Given the description of an element on the screen output the (x, y) to click on. 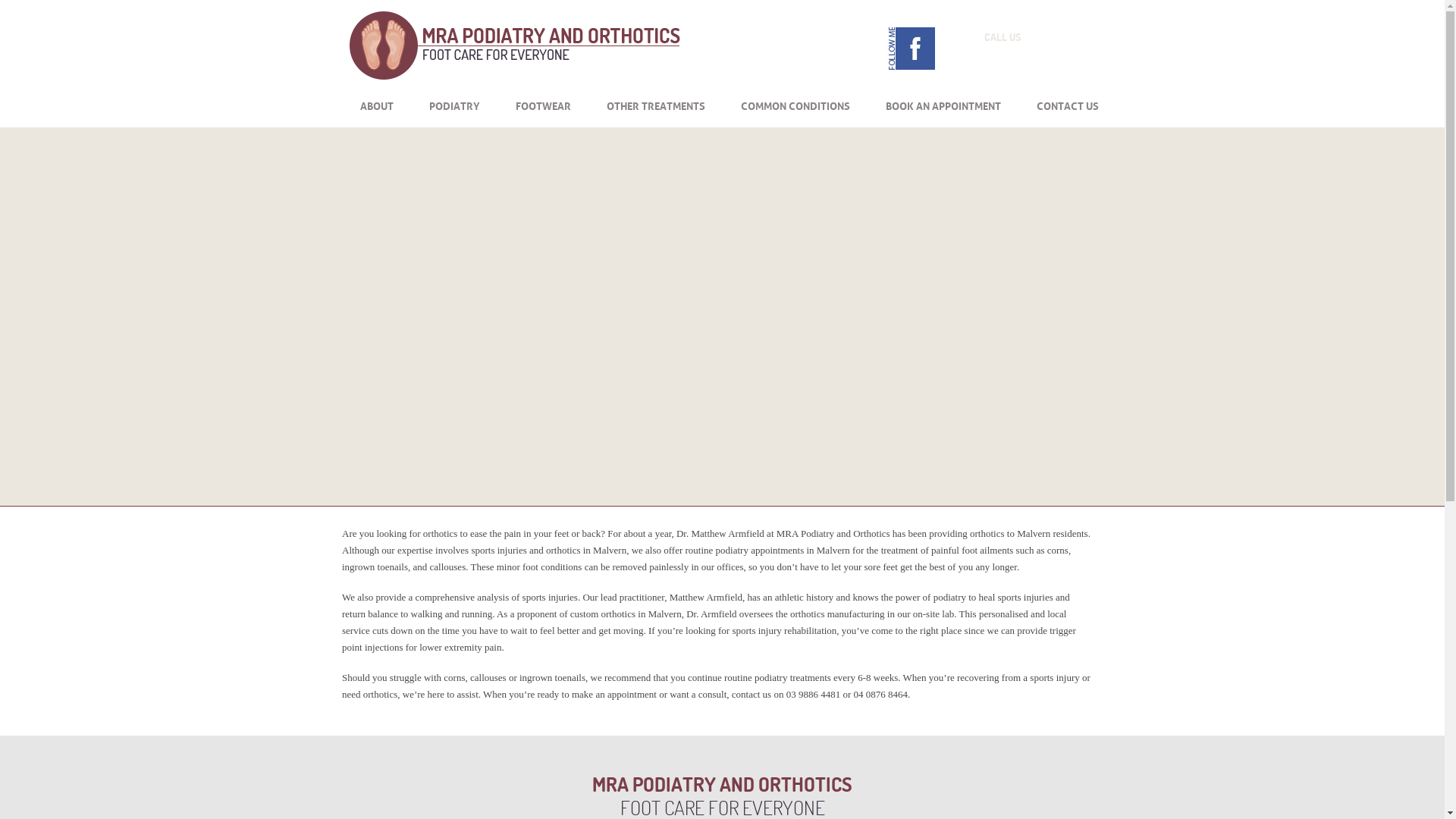
MRA Podiatry and Orthotics Element type: hover (514, 75)
Previous Element type: hover (751, 395)
MRA Podiatry and Orthotics Element type: hover (514, 45)
OTHER TREATMENTS Element type: text (655, 104)
Enquiry Now Element type: hover (1423, 212)
Next Element type: hover (791, 395)
COMMON CONDITIONS Element type: text (794, 104)
FOOTWEAR Element type: text (543, 104)
Facebook Element type: hover (909, 48)
PODIATRY Element type: text (454, 104)
CONTACT US Element type: text (1066, 104)
ABOUT Element type: text (375, 104)
BOOK AN APPOINTMENT Element type: text (943, 104)
